Given the description of an element on the screen output the (x, y) to click on. 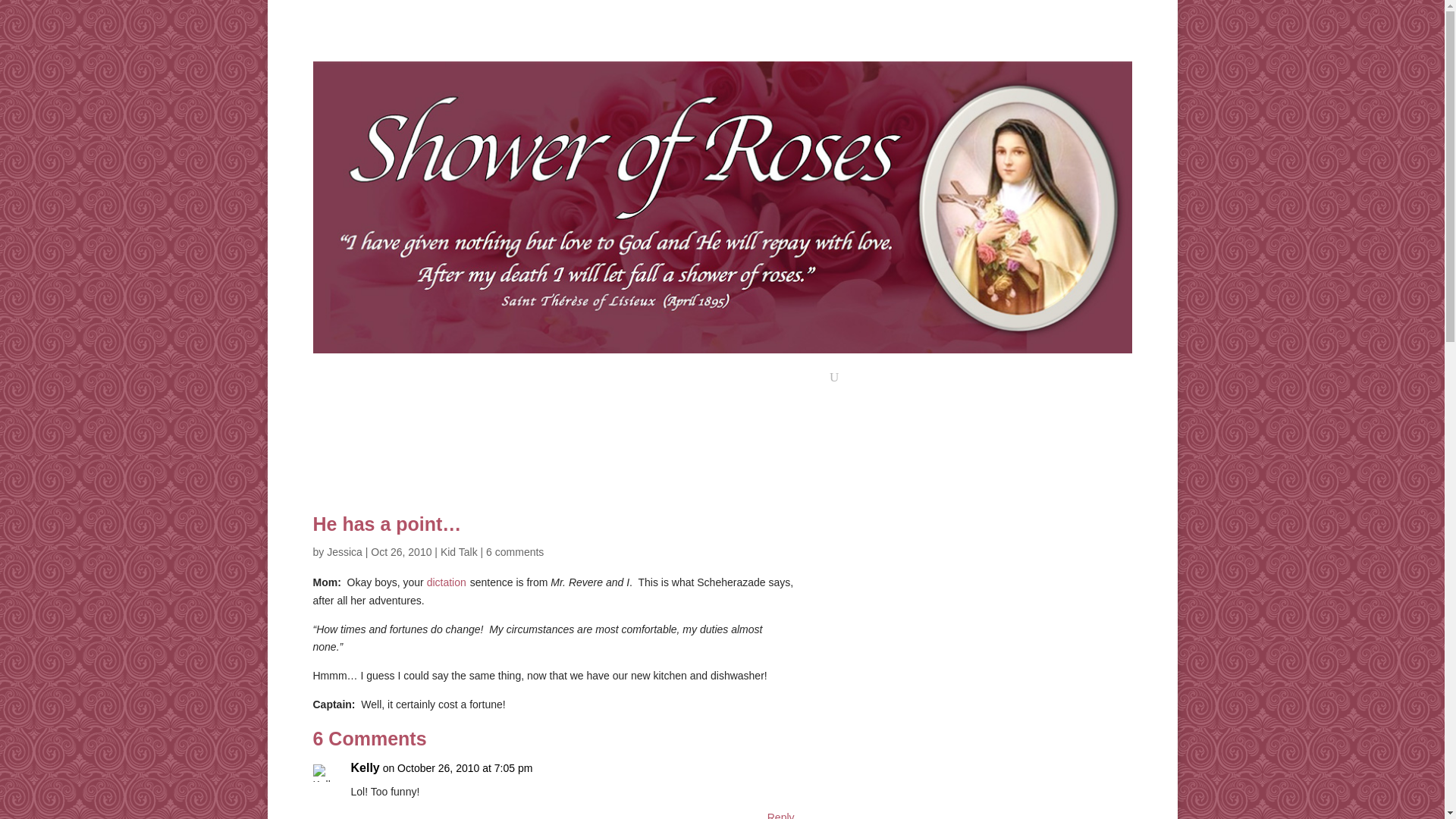
Kid Talk (459, 551)
Resources (674, 380)
Posts by Jessica (344, 551)
6 comments (514, 551)
Jessica (344, 551)
Kelly (364, 768)
About (746, 380)
Home (611, 380)
dictation (445, 582)
Contact (802, 380)
Reply (780, 814)
